Given the description of an element on the screen output the (x, y) to click on. 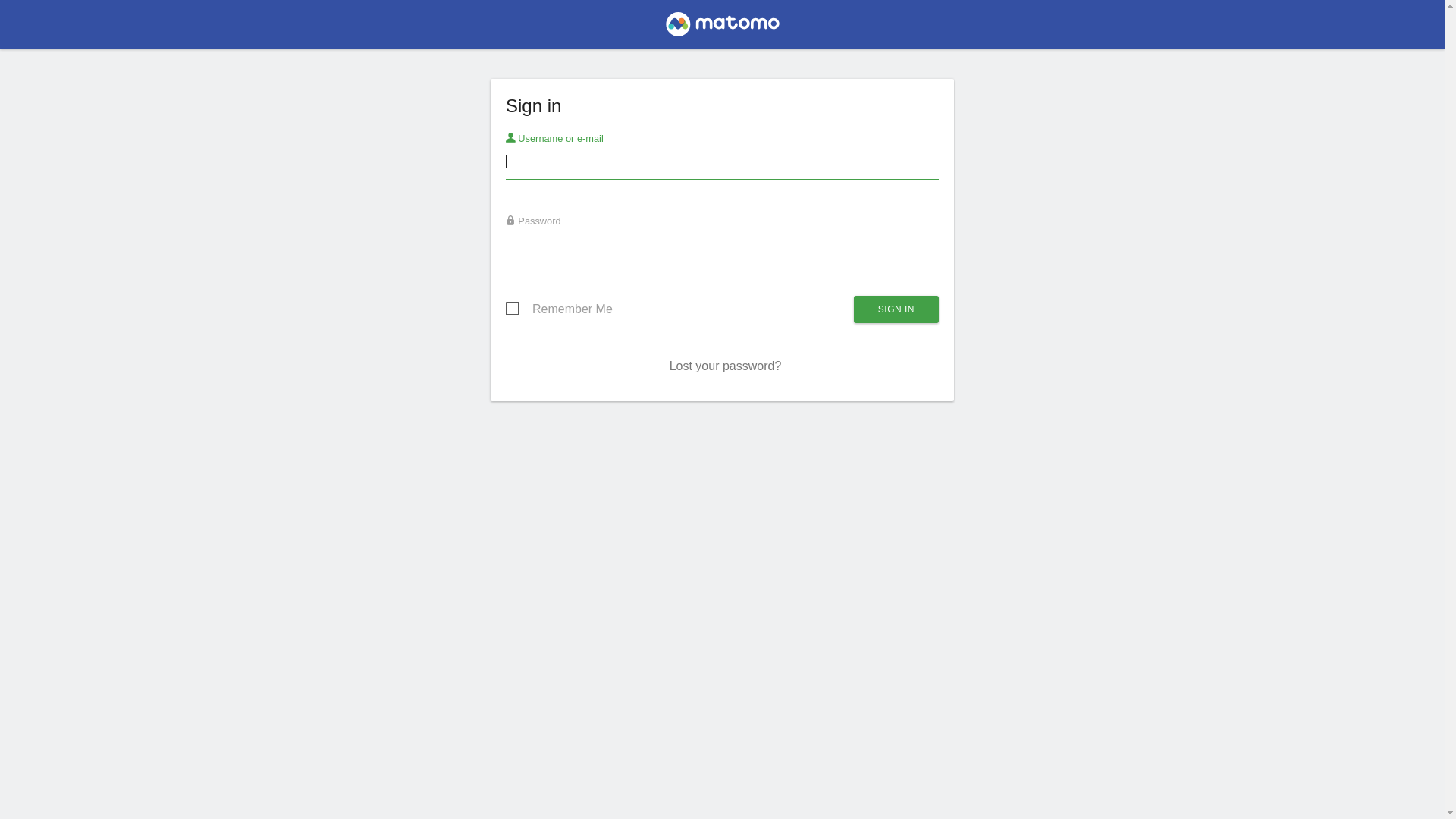
Lost your password? Element type: text (725, 365)
Sign in Element type: text (895, 309)
Matomo # free/libre analytics platform Element type: hover (722, 27)
